Given the description of an element on the screen output the (x, y) to click on. 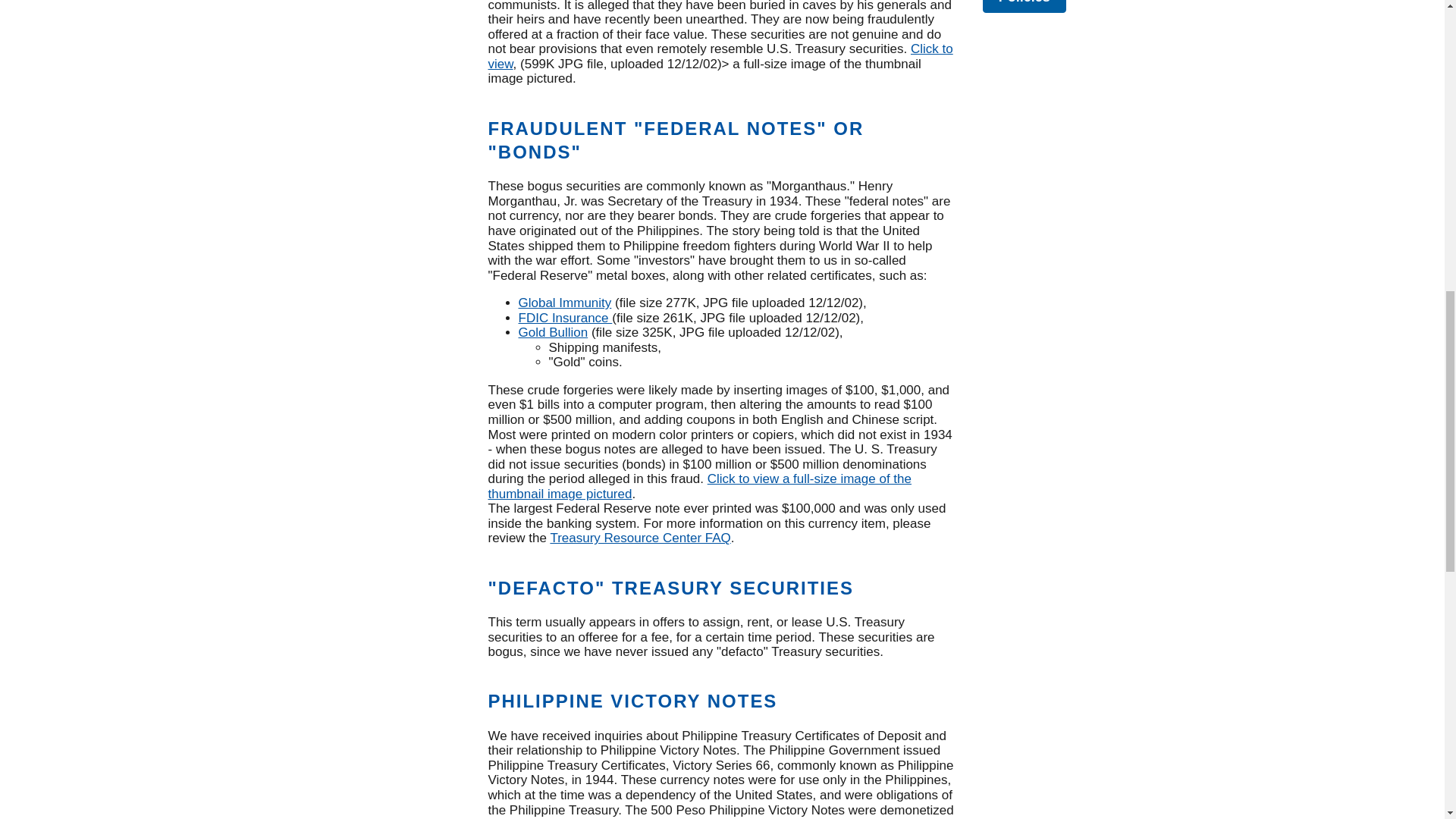
Click to view (720, 56)
Treasury Resource Center FAQ (640, 537)
FDIC Insurance (565, 318)
Global Immunity (564, 302)
Gold Bullion (553, 332)
Policies (1024, 6)
